Given the description of an element on the screen output the (x, y) to click on. 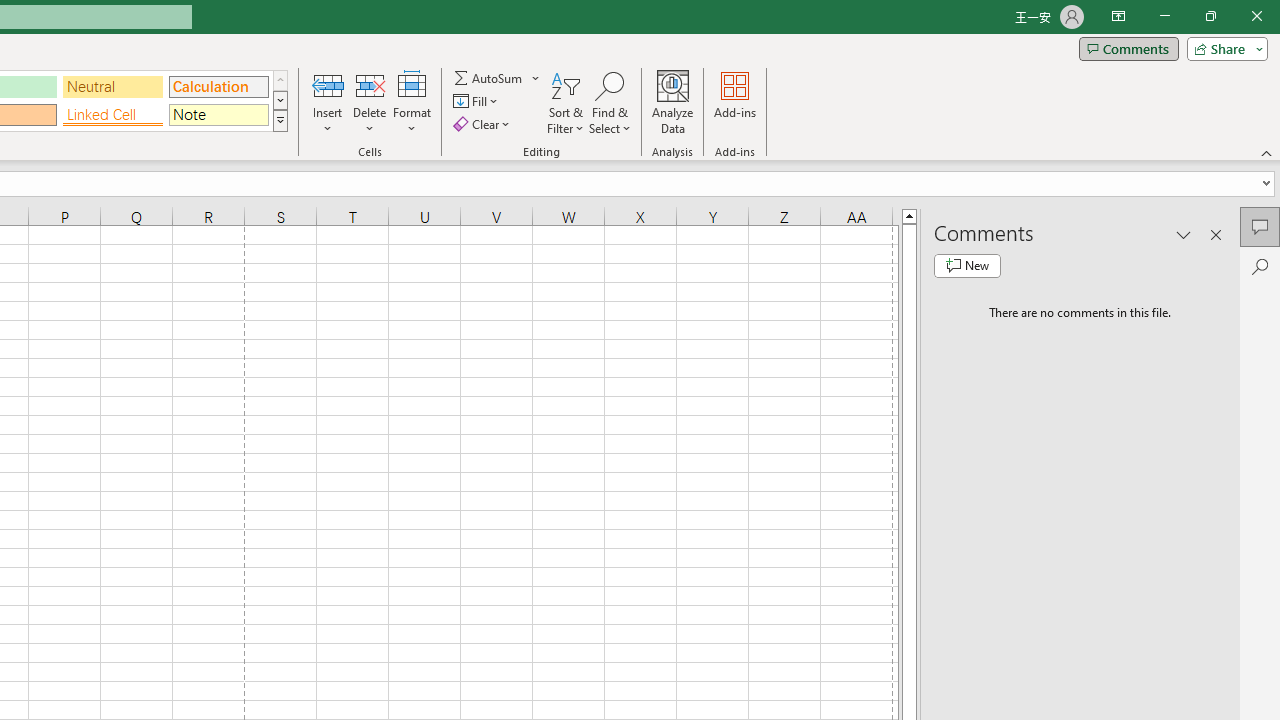
Find & Select (610, 102)
Linked Cell (113, 114)
Task Pane Options (1183, 234)
Insert Cells (328, 84)
Search (1260, 266)
Note (218, 114)
